Given the description of an element on the screen output the (x, y) to click on. 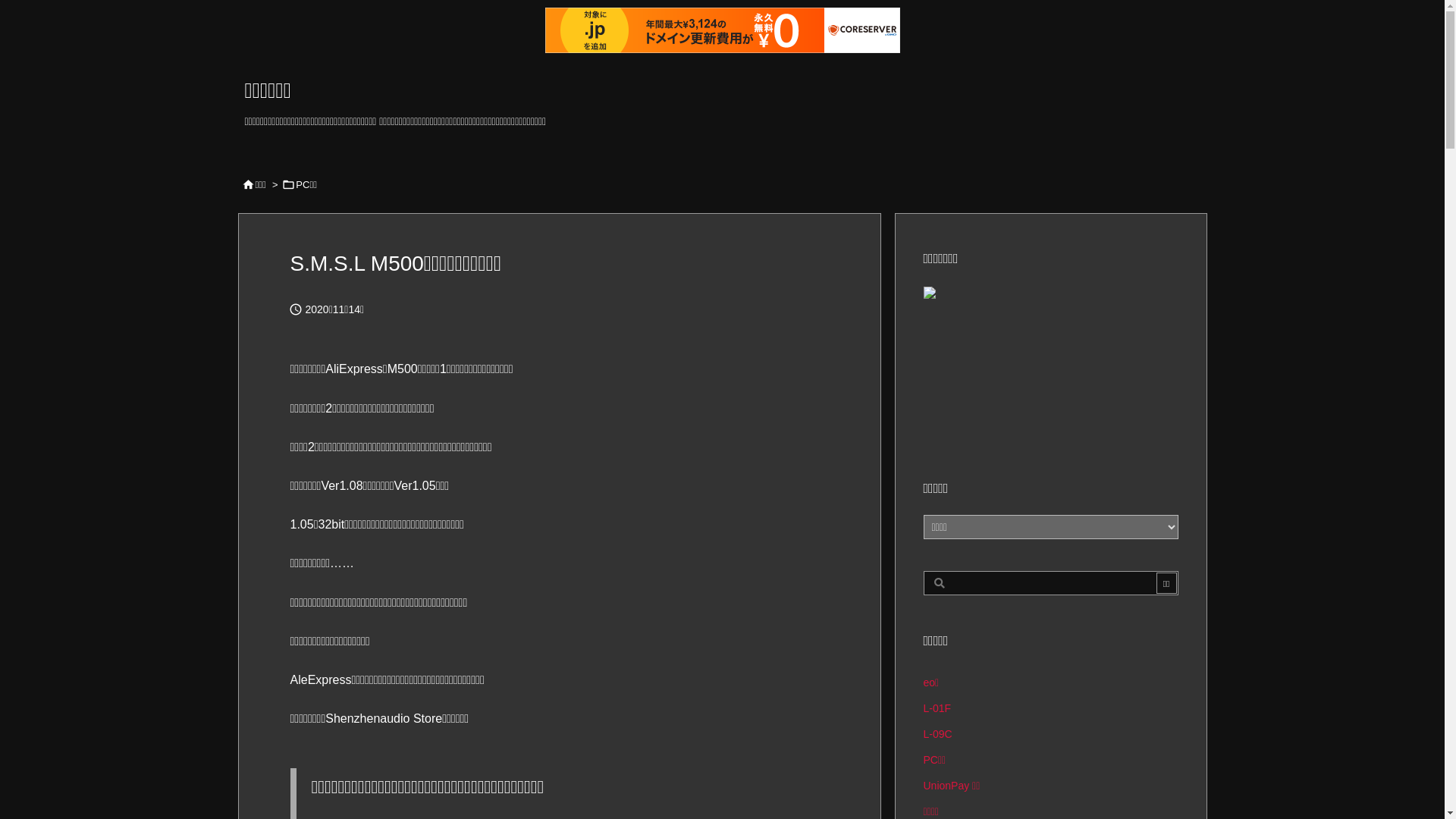
L-09C Element type: text (1050, 733)
L-01F Element type: text (1050, 708)
